Given the description of an element on the screen output the (x, y) to click on. 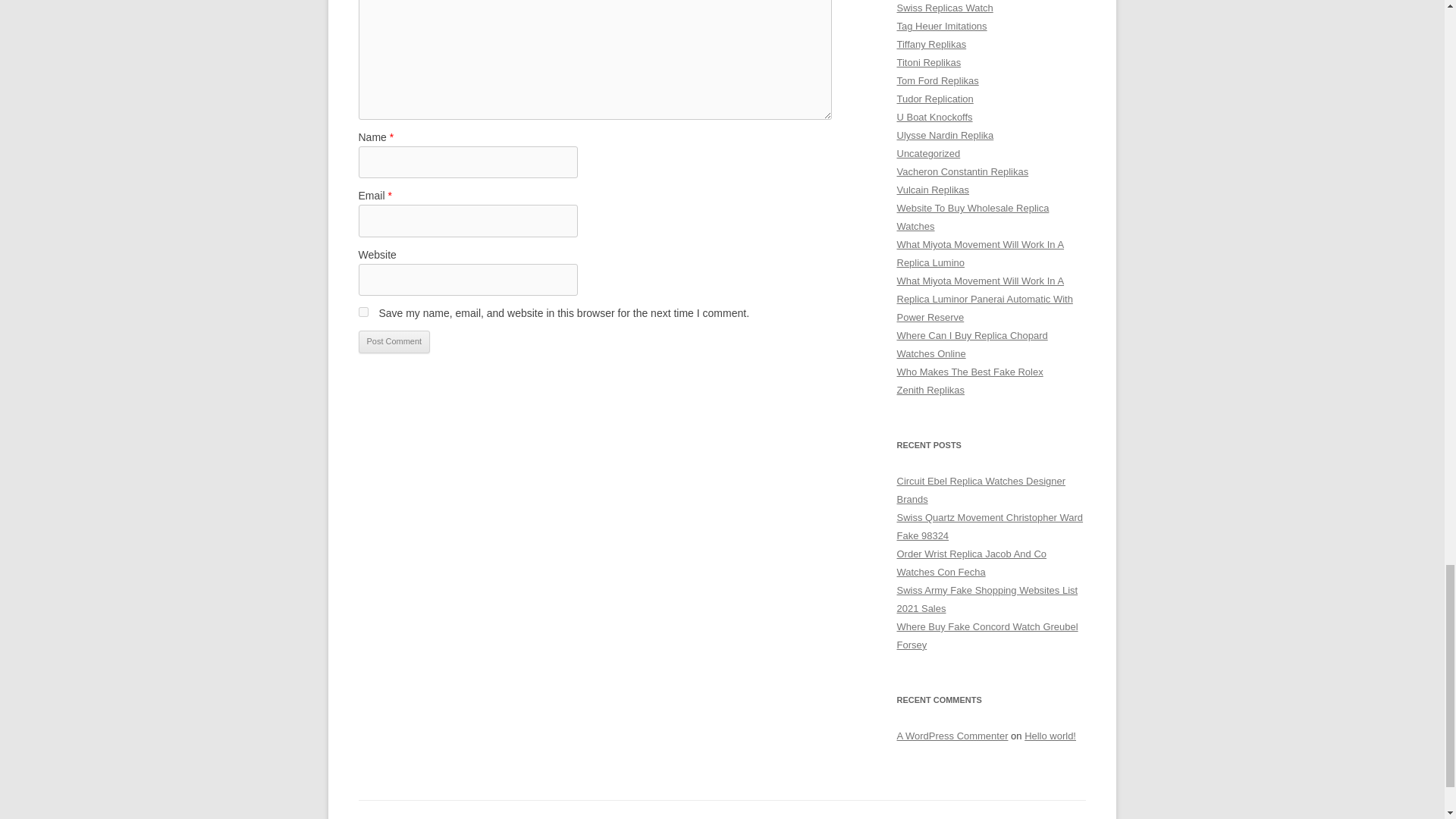
yes (363, 311)
Post Comment (393, 341)
Post Comment (393, 341)
